Given the description of an element on the screen output the (x, y) to click on. 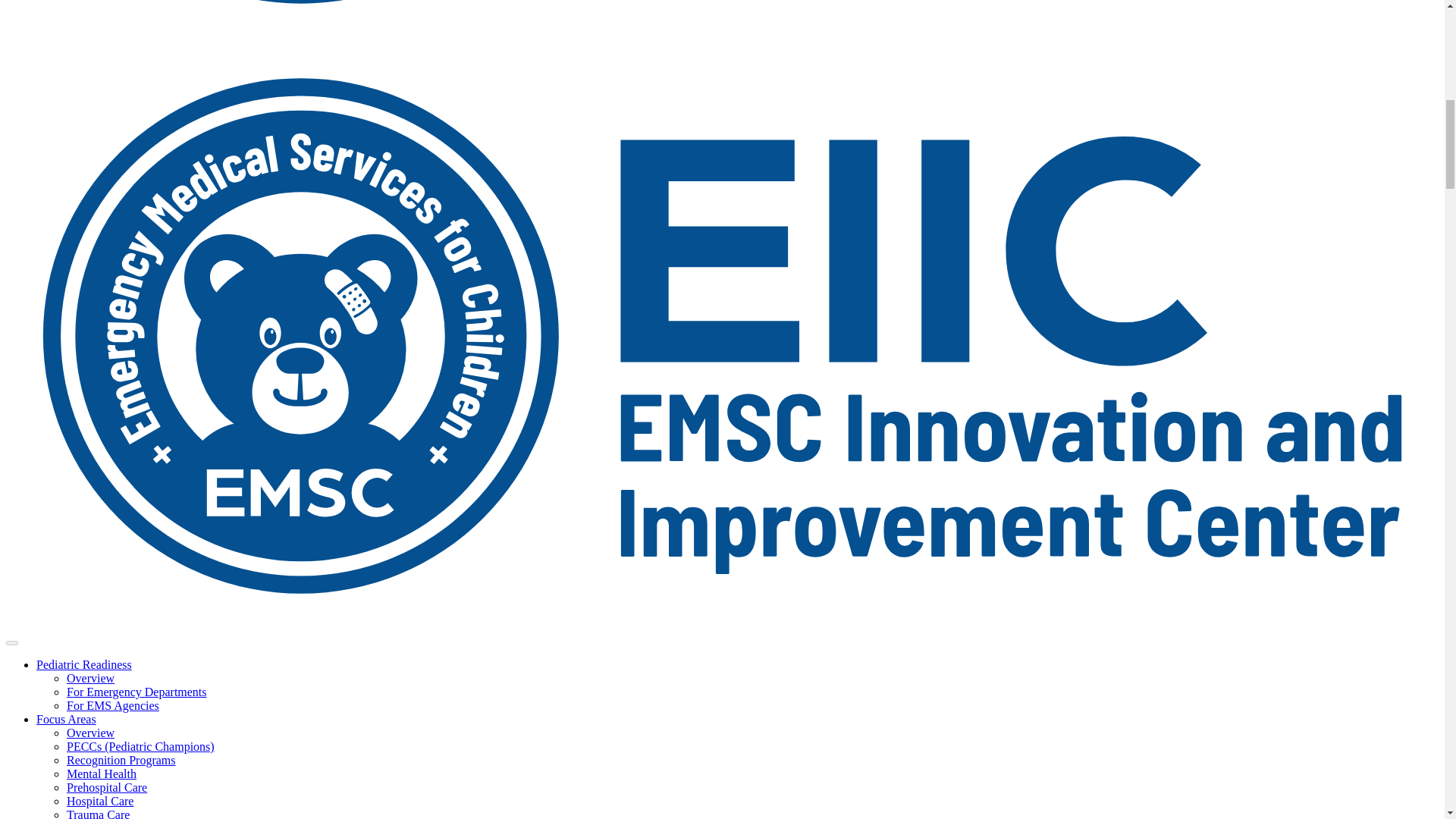
Trauma Care (97, 813)
Hospital Care (99, 800)
Mental Health (101, 773)
Overview (90, 732)
Recognition Programs (121, 759)
For Emergency Departments (136, 691)
For EMS Agencies (112, 705)
Prehospital Care (106, 787)
Focus Areas (66, 718)
Pediatric Readiness (84, 664)
Overview (90, 677)
